Given the description of an element on the screen output the (x, y) to click on. 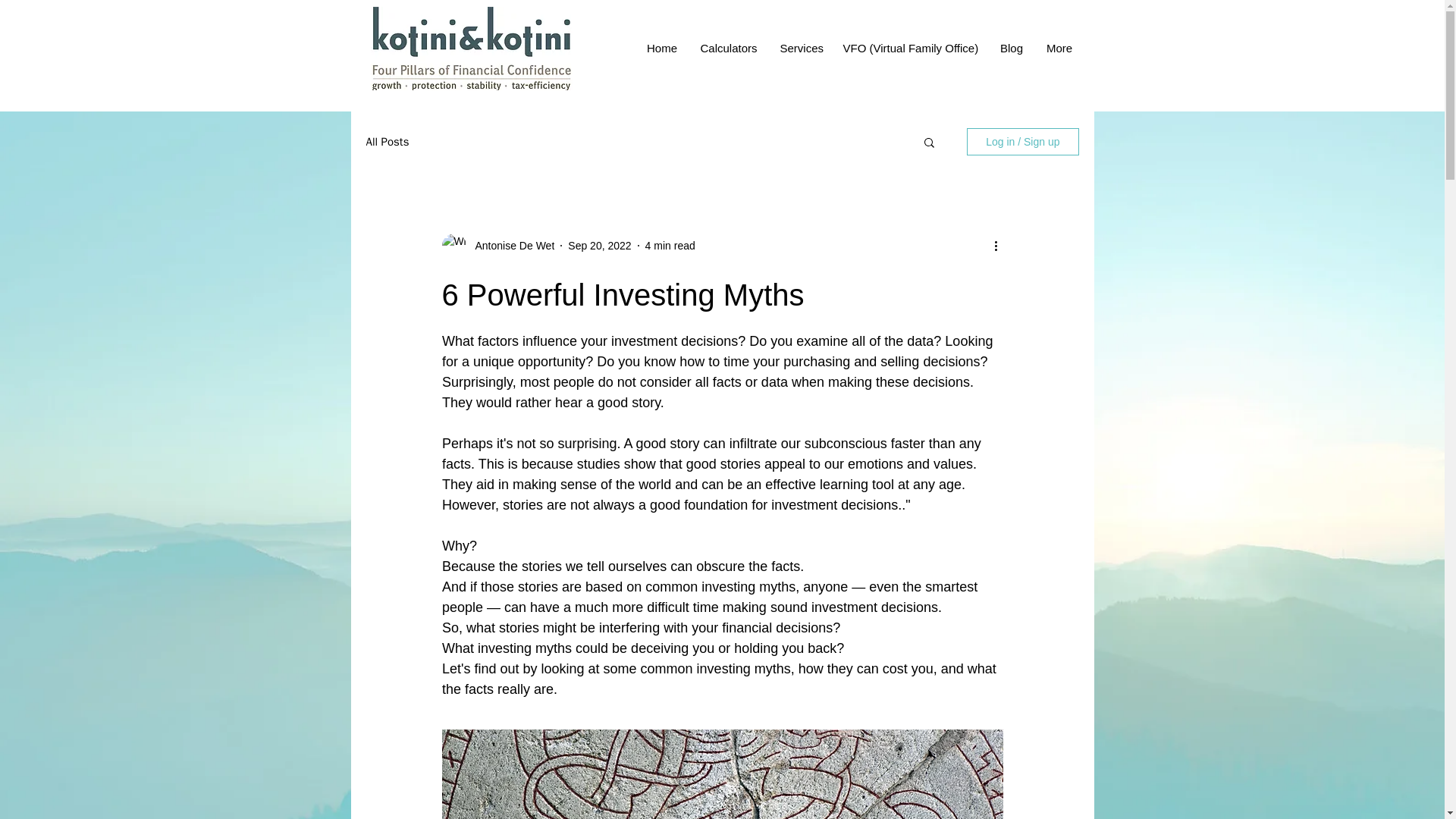
Blog (1011, 47)
Sep 20, 2022 (598, 245)
All Posts (387, 142)
Antonise De Wet (509, 245)
Calculators (728, 47)
Services (799, 47)
Home (661, 47)
4 min read (670, 245)
